Given the description of an element on the screen output the (x, y) to click on. 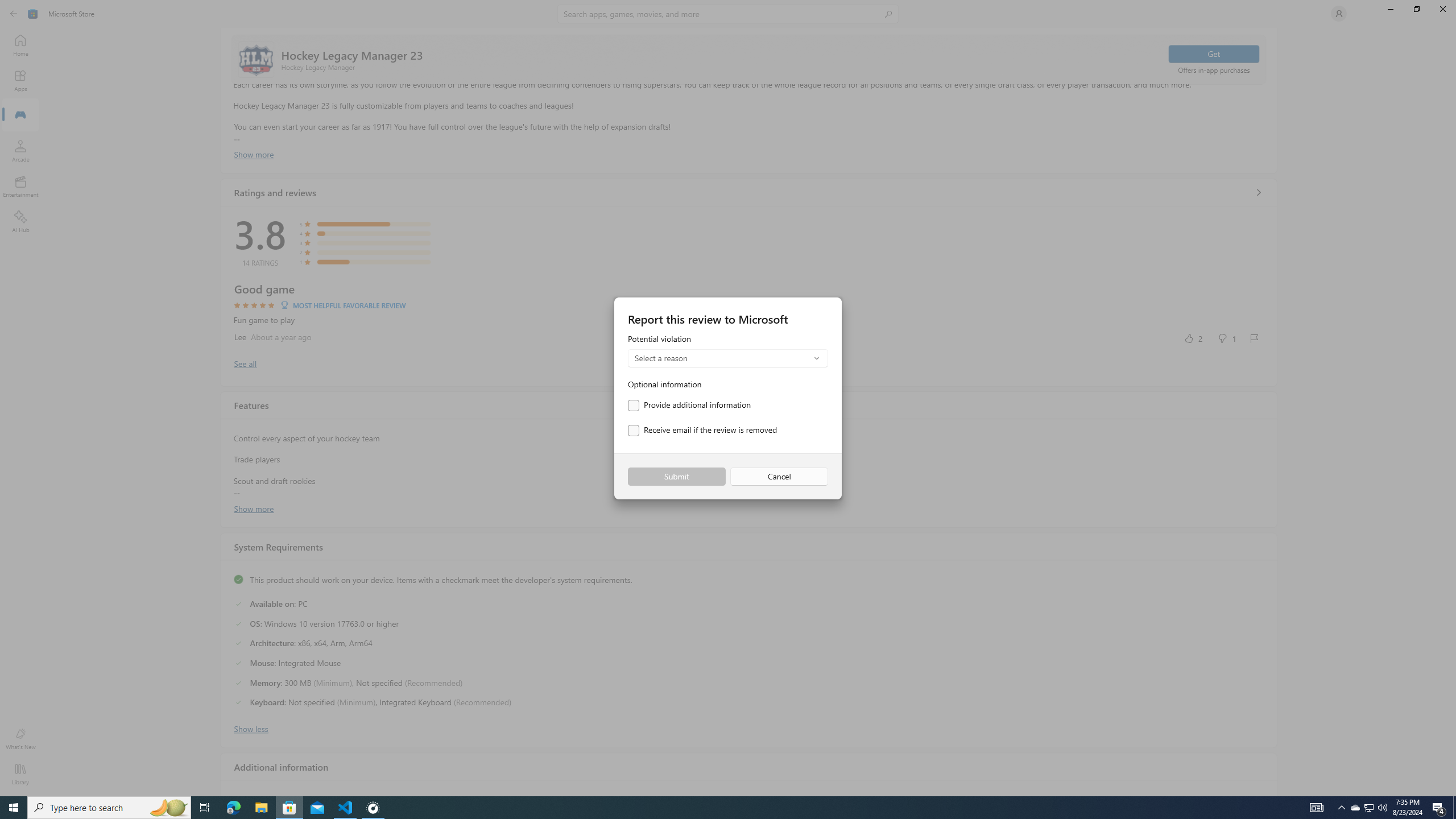
Yes, this was helpful. 2 votes. (1192, 338)
